Given the description of an element on the screen output the (x, y) to click on. 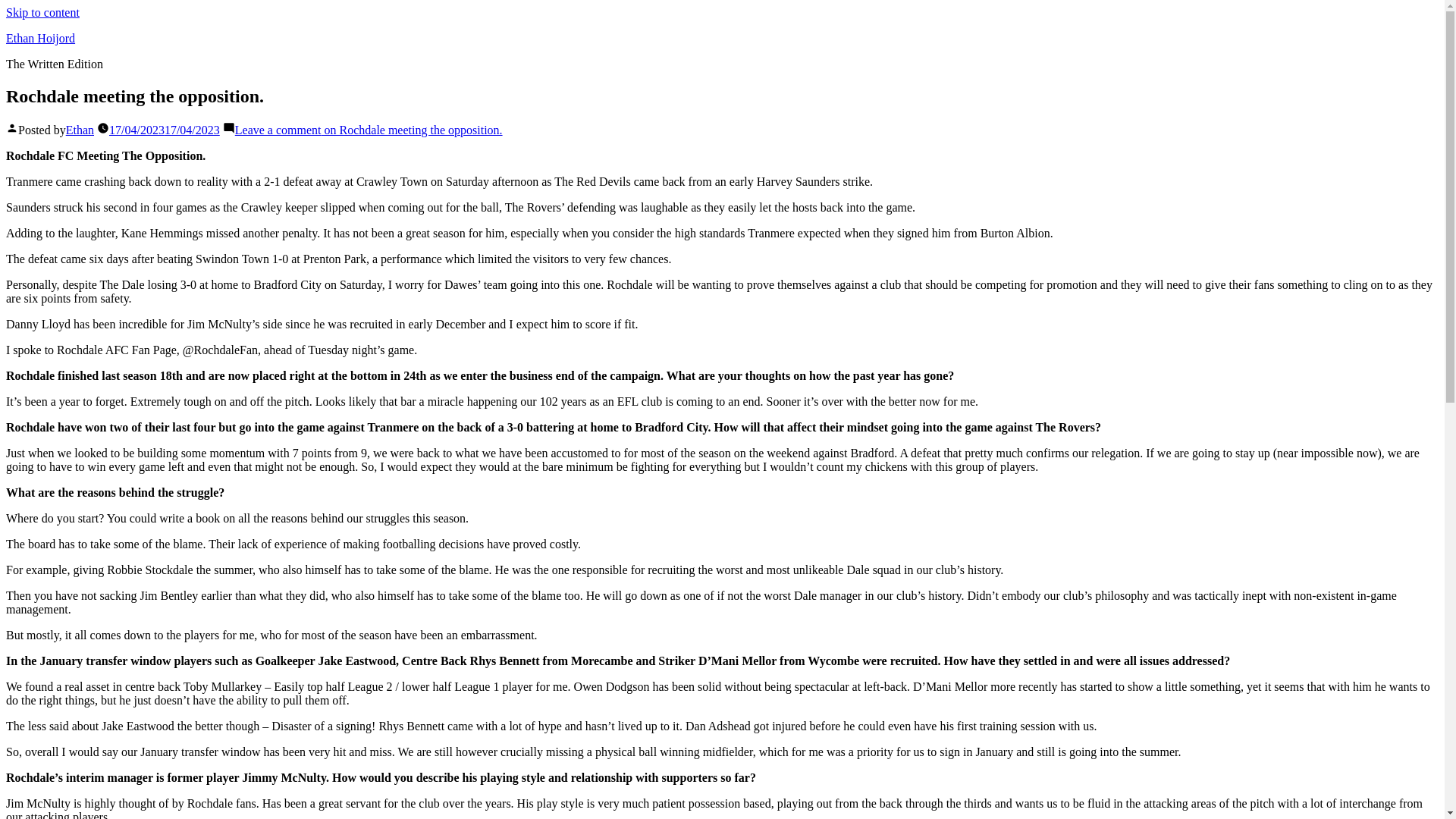
Ethan (79, 129)
Skip to content (42, 11)
Leave a comment on Rochdale meeting the opposition. (368, 129)
Ethan Hoijord (40, 38)
